Given the description of an element on the screen output the (x, y) to click on. 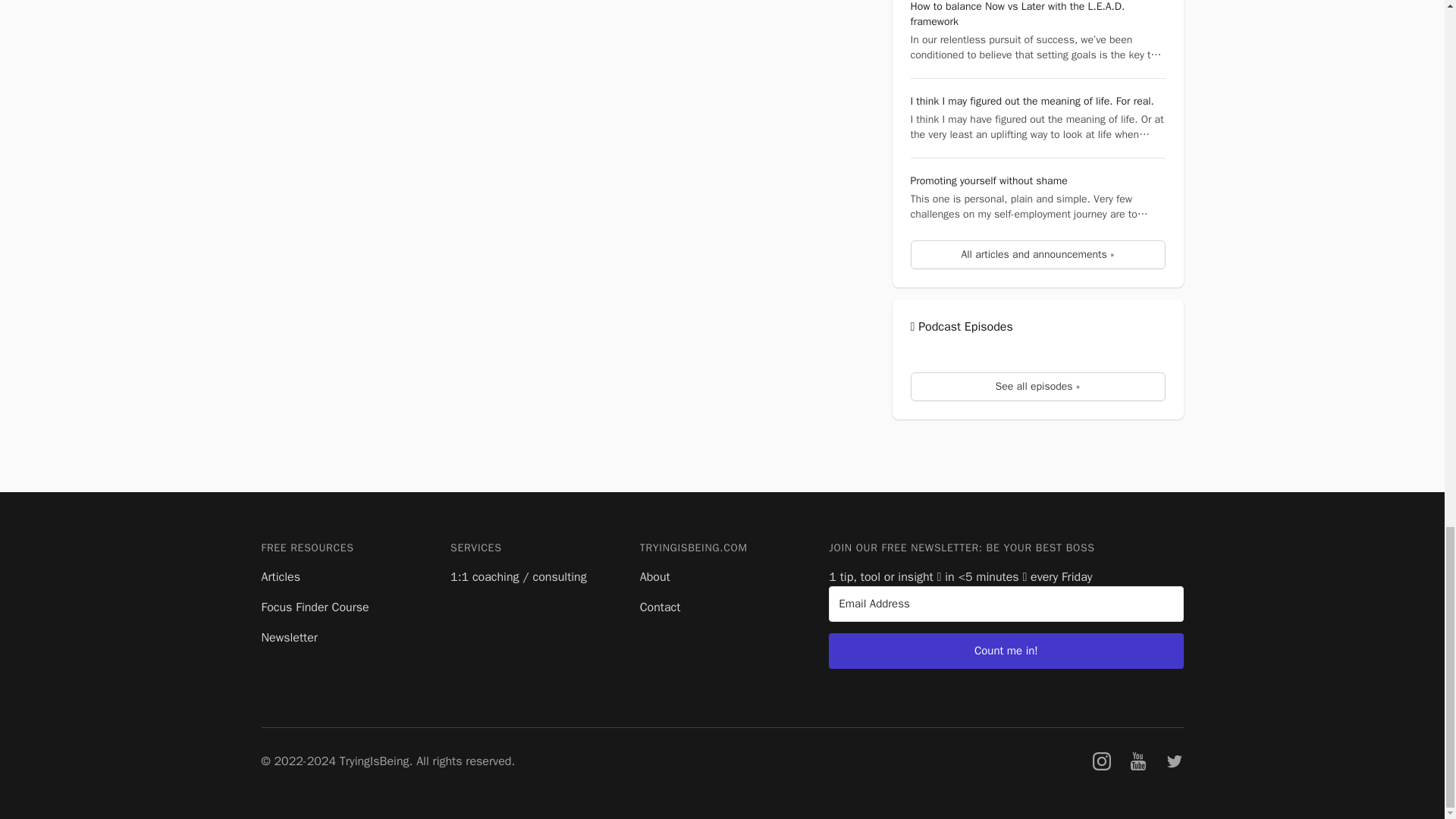
How to balance Now vs Later with the L.E.A.D. framework (1017, 13)
Articles (279, 576)
Newsletter (288, 637)
I think I may figured out the meaning of life. For real. (1031, 101)
Promoting yourself without shame (988, 180)
About (654, 576)
Count me in! (1005, 651)
Twitter (1173, 760)
Focus Finder Course (314, 607)
Instagram (1100, 760)
Contact (660, 607)
YouTube (1137, 760)
